Given the description of an element on the screen output the (x, y) to click on. 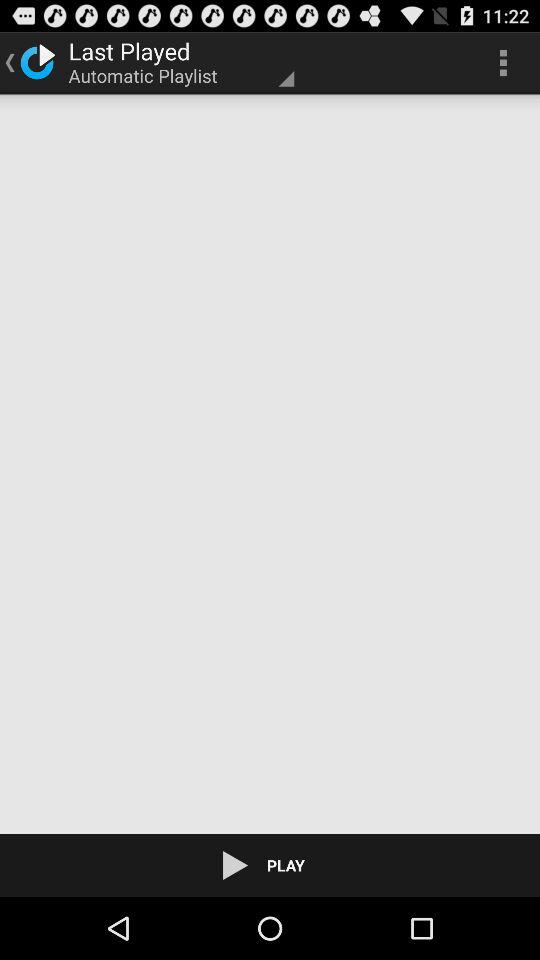
click app to the right of automatic playlist app (503, 62)
